Given the description of an element on the screen output the (x, y) to click on. 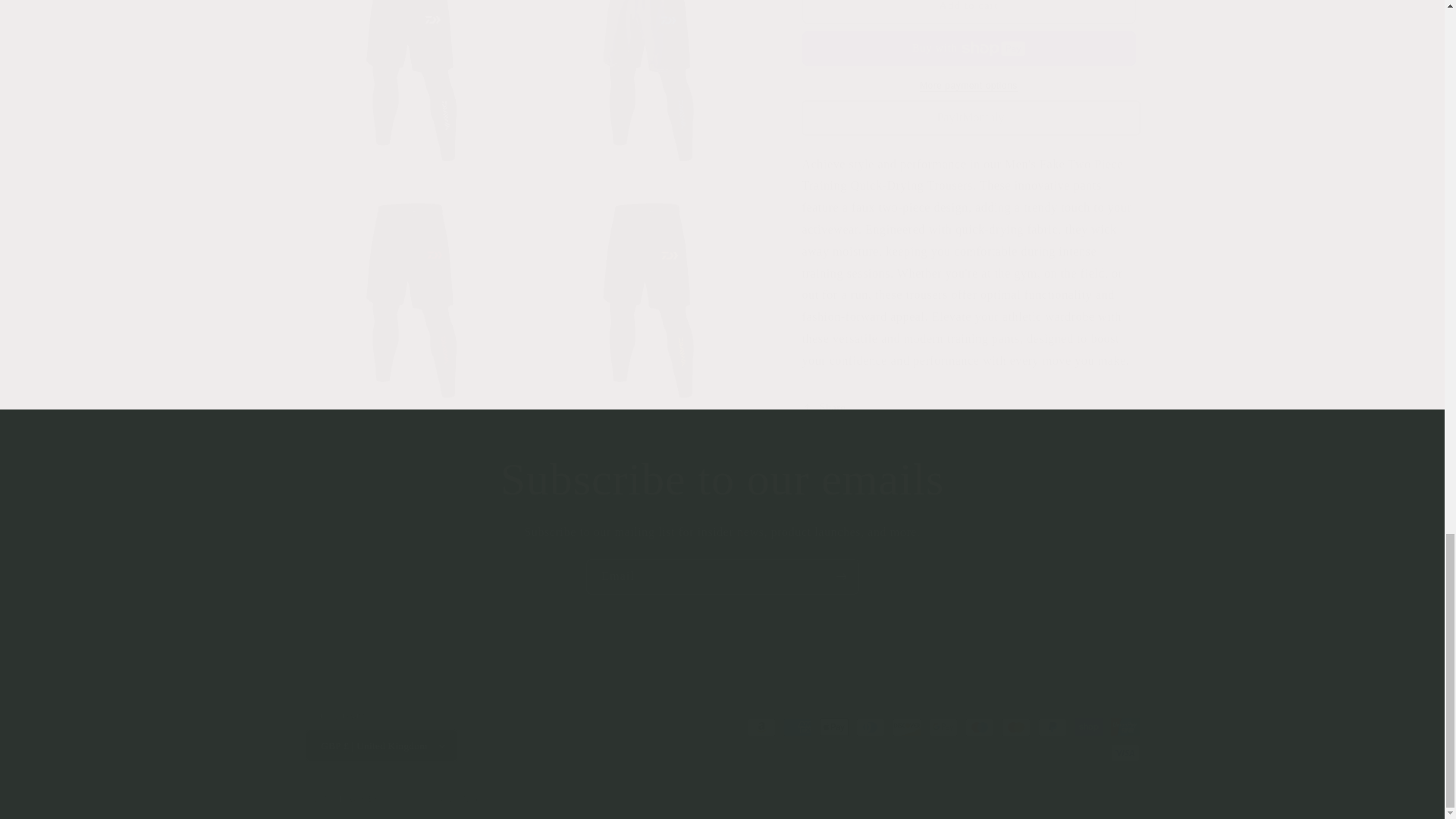
Subscribe to our emails (721, 479)
Open media 13 in modal (652, 283)
Open media 10 in modal (415, 79)
Email (722, 576)
Open media 12 in modal (415, 283)
Open media 11 in modal (652, 79)
